Given the description of an element on the screen output the (x, y) to click on. 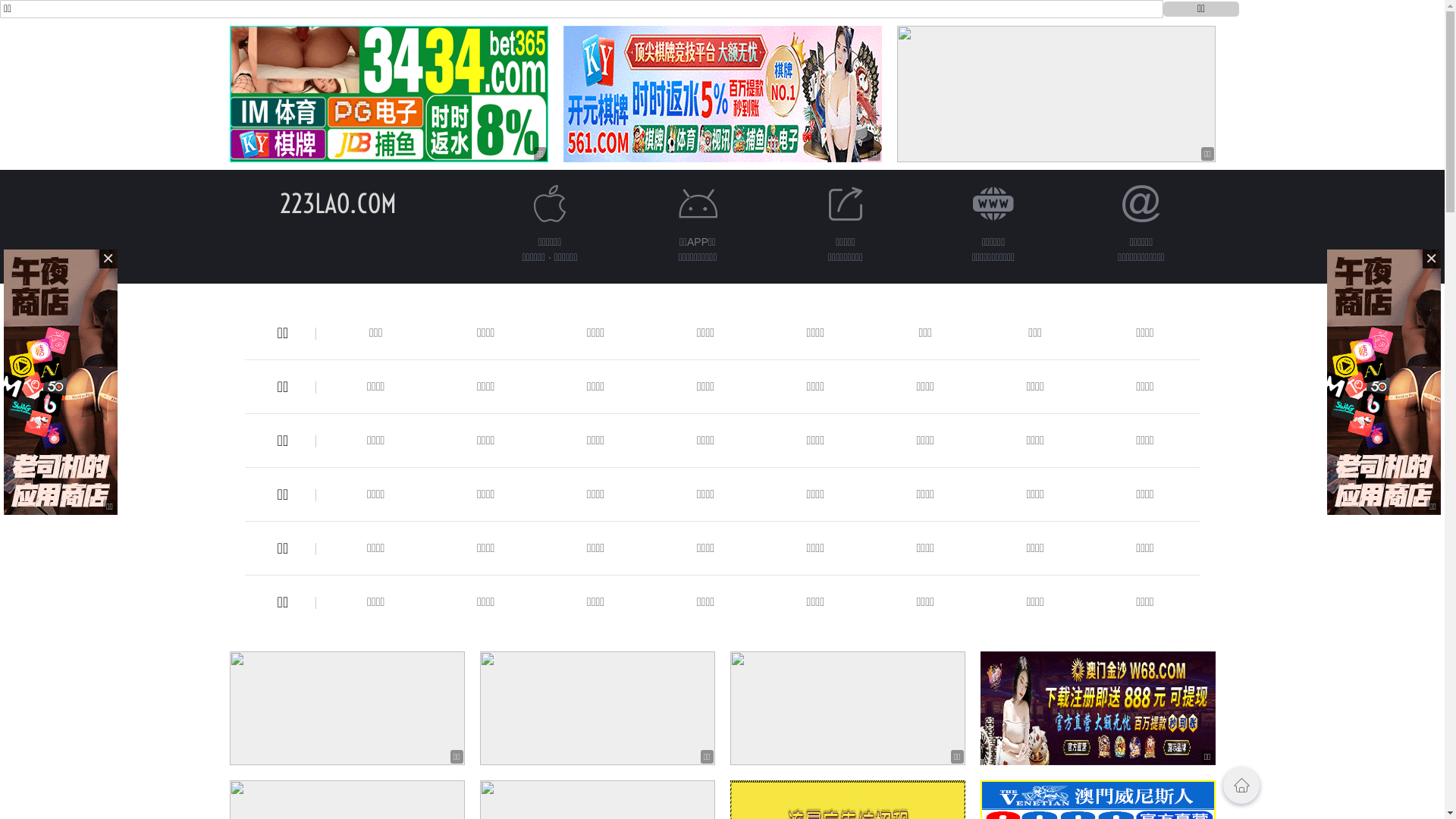
223LAO.COM Element type: text (337, 203)
